Given the description of an element on the screen output the (x, y) to click on. 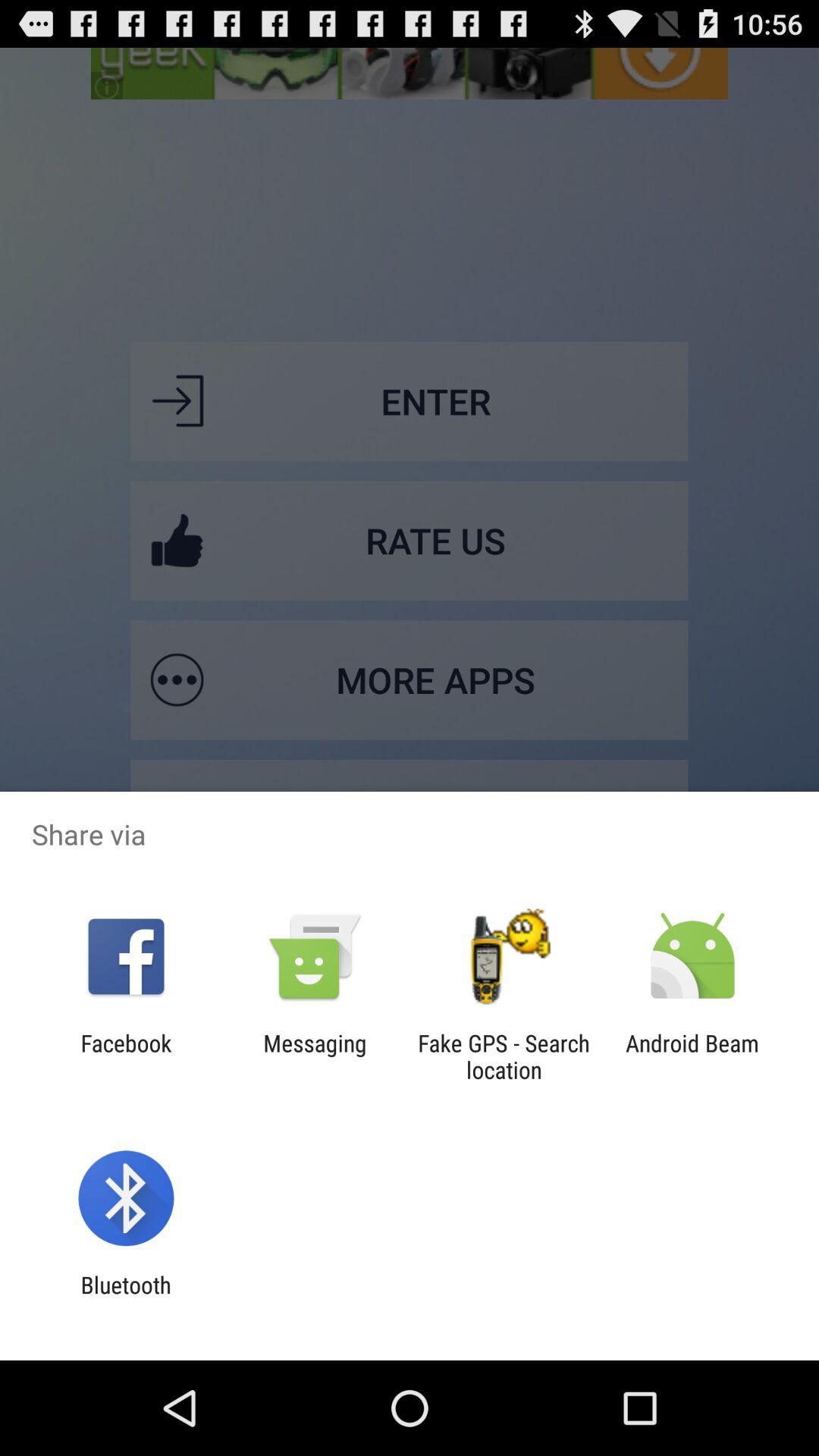
scroll to fake gps search (503, 1056)
